Given the description of an element on the screen output the (x, y) to click on. 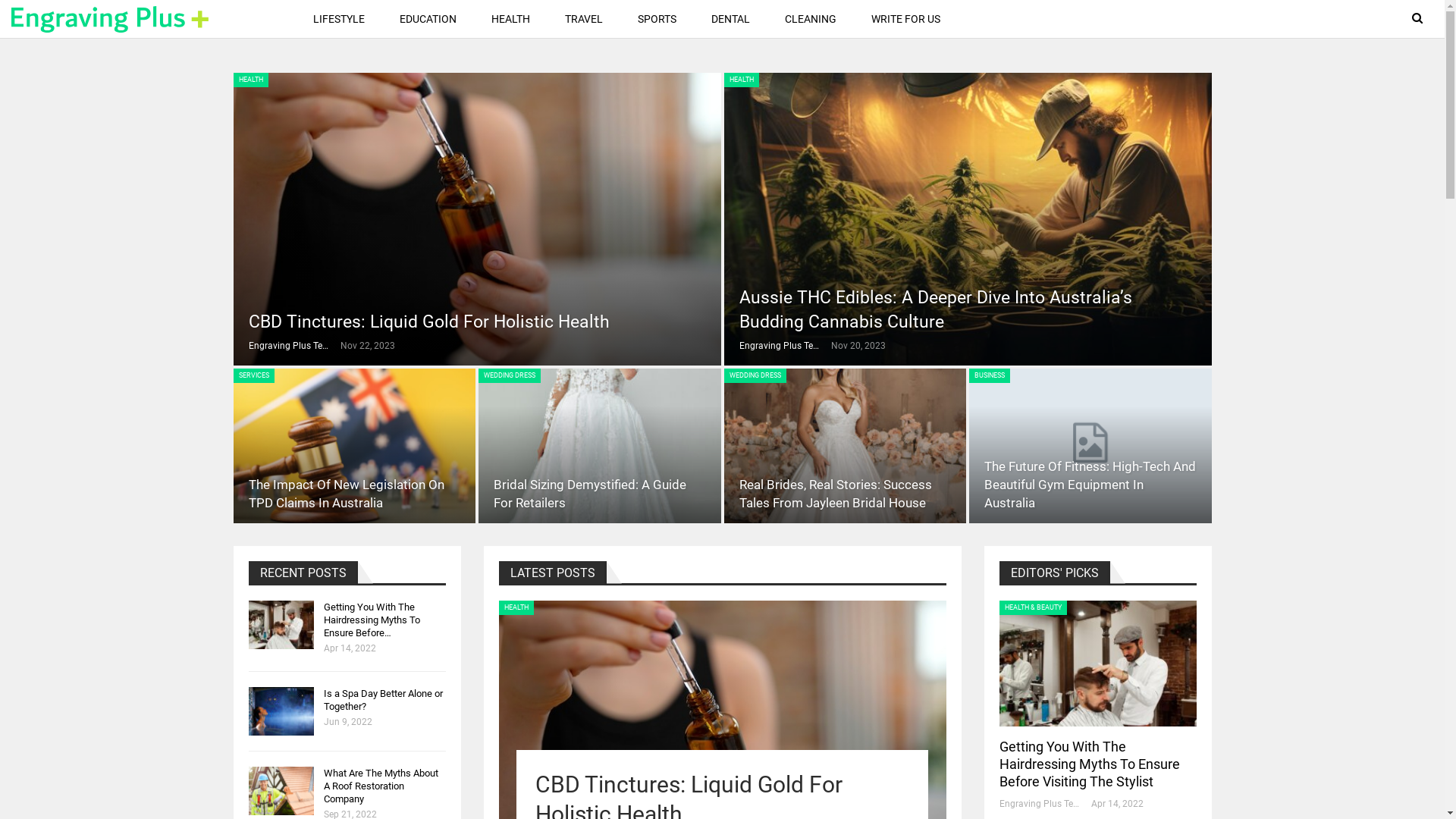
What Are The Myths About A Roof Restoration Company Element type: text (380, 785)
Is a Spa Day Better Alone or Together? Element type: text (382, 699)
Bridal Sizing Demystified: A Guide For Retailers Element type: text (589, 493)
WRITE FOR US Element type: text (905, 18)
EDUCATION Element type: text (427, 18)
TRAVEL Element type: text (583, 18)
WEDDING DRESS Element type: text (509, 375)
SPORTS Element type: text (656, 18)
CBD Tinctures: Liquid Gold For Holistic Health Element type: text (428, 321)
Engraving Plus Team Element type: text (294, 345)
Is a Spa Day Better Alone or Together? Element type: hover (280, 711)
HEALTH & BEAUTY Element type: text (1032, 607)
HEALTH Element type: text (740, 79)
Engraving Plus Team Element type: text (1045, 803)
HEALTH Element type: text (510, 18)
Engraving Plus Team Element type: text (784, 345)
WEDDING DRESS Element type: text (754, 375)
What Are The Myths About A Roof Restoration Company Element type: hover (280, 790)
LIFESTYLE Element type: text (338, 18)
HEALTH Element type: text (250, 79)
DENTAL Element type: text (730, 18)
SERVICES Element type: text (253, 375)
The Impact Of New Legislation On TPD Claims In Australia Element type: text (346, 493)
Bridal Sizing Demystified: A Guide for Retailers Element type: hover (599, 445)
CLEANING Element type: text (810, 18)
HEALTH Element type: text (515, 607)
CBD Tinctures: Liquid Gold for Holistic Health Element type: hover (477, 219)
BUSINESS Element type: text (989, 375)
The Impact of New Legislation on TPD Claims in Australia Element type: hover (354, 445)
